Given the description of an element on the screen output the (x, y) to click on. 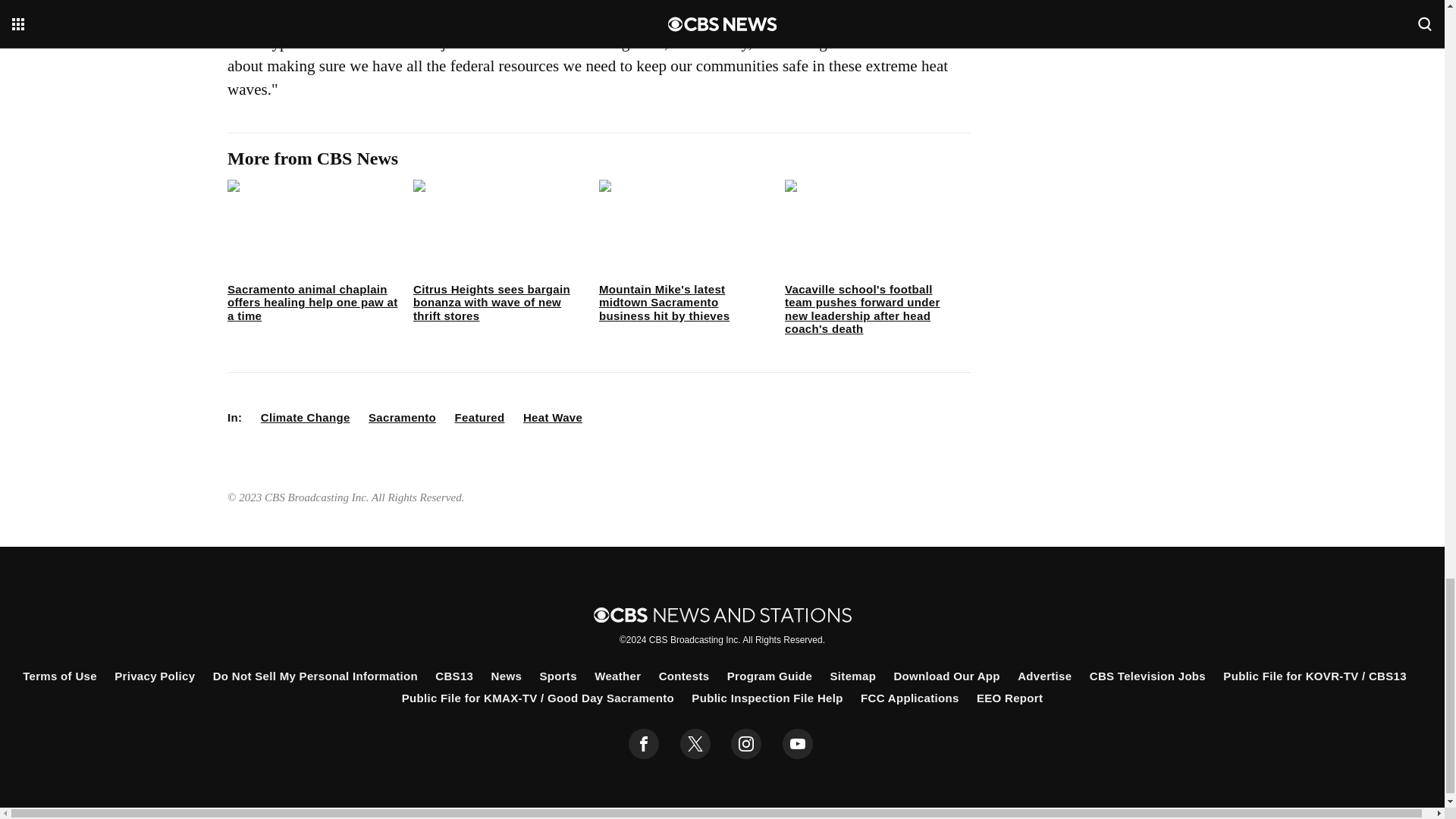
youtube (797, 743)
instagram (745, 743)
twitter (694, 743)
facebook (643, 743)
